Given the description of an element on the screen output the (x, y) to click on. 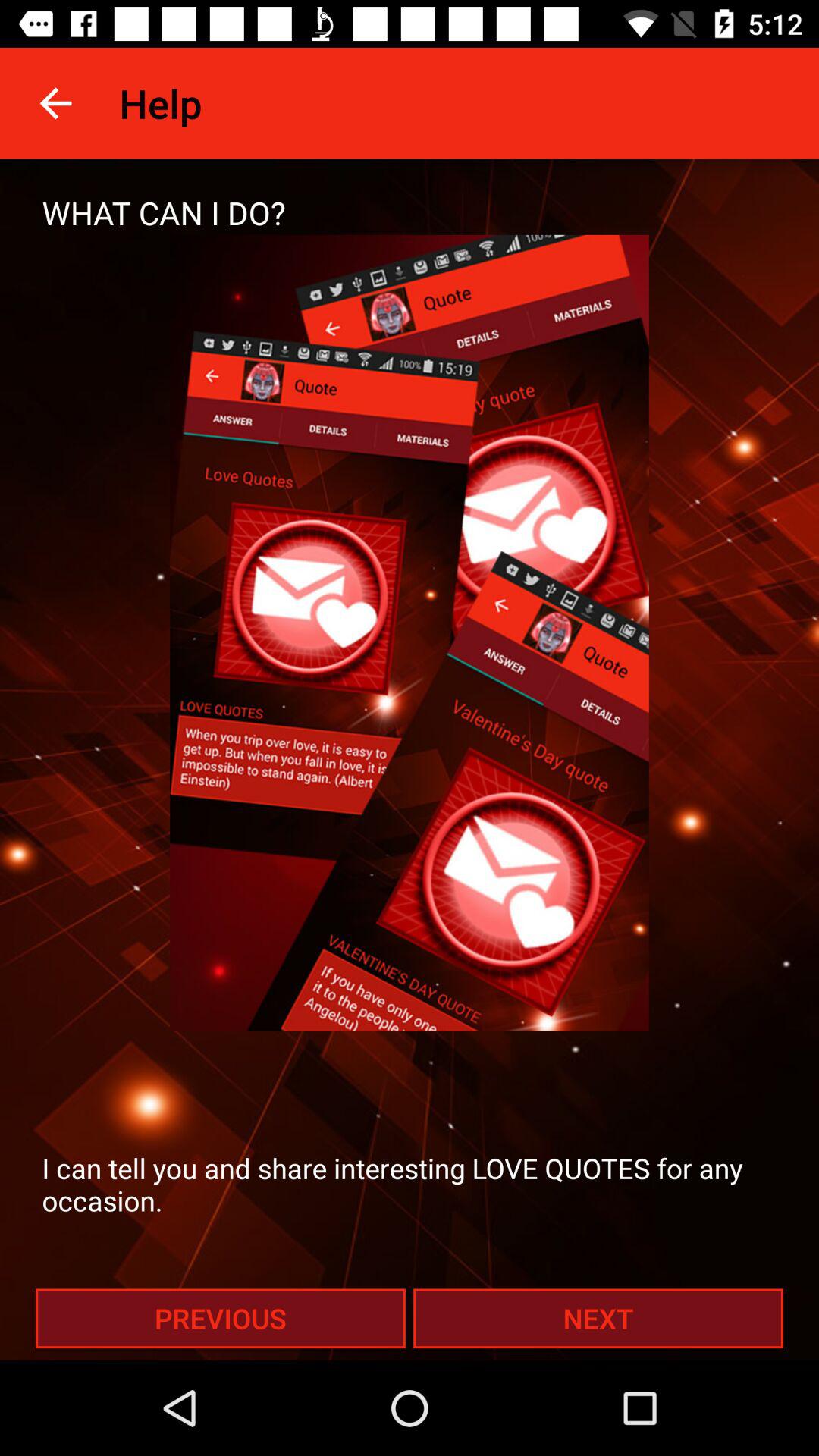
choose the previous icon (220, 1318)
